Given the description of an element on the screen output the (x, y) to click on. 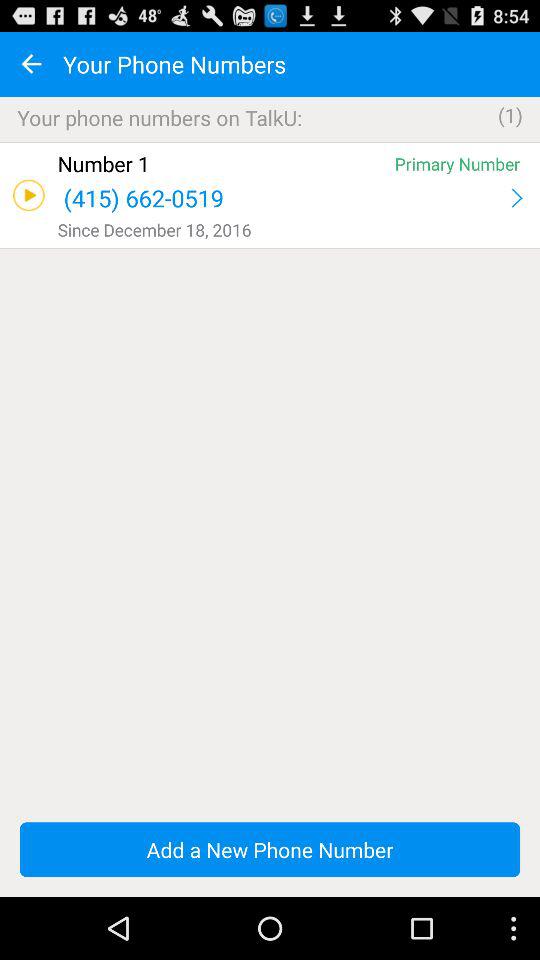
press item to the right of the number 1 icon (457, 163)
